Given the description of an element on the screen output the (x, y) to click on. 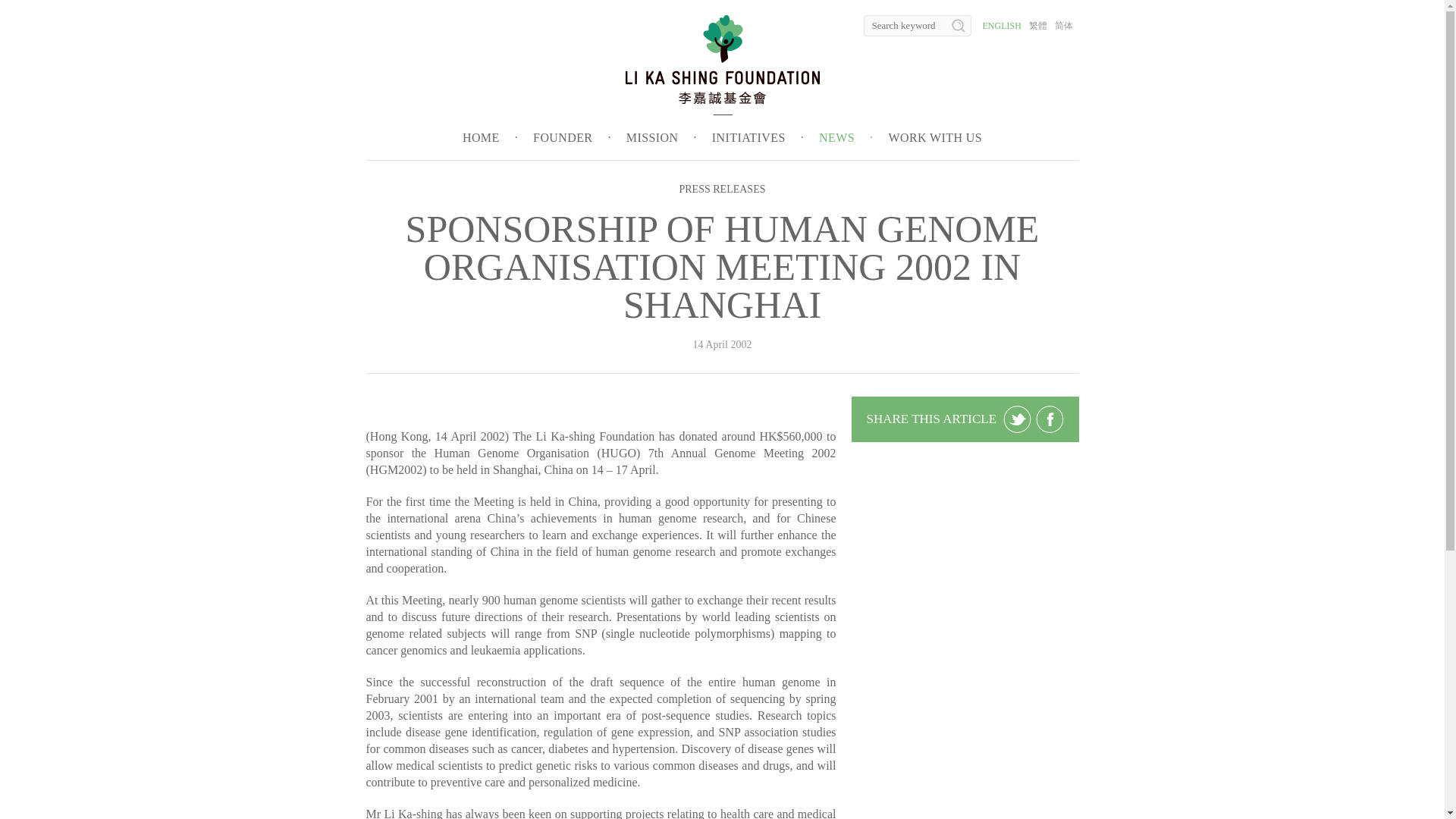
ENGLISH (1002, 25)
PRESS RELEASES (722, 188)
WORK WITH US (934, 137)
